Given the description of an element on the screen output the (x, y) to click on. 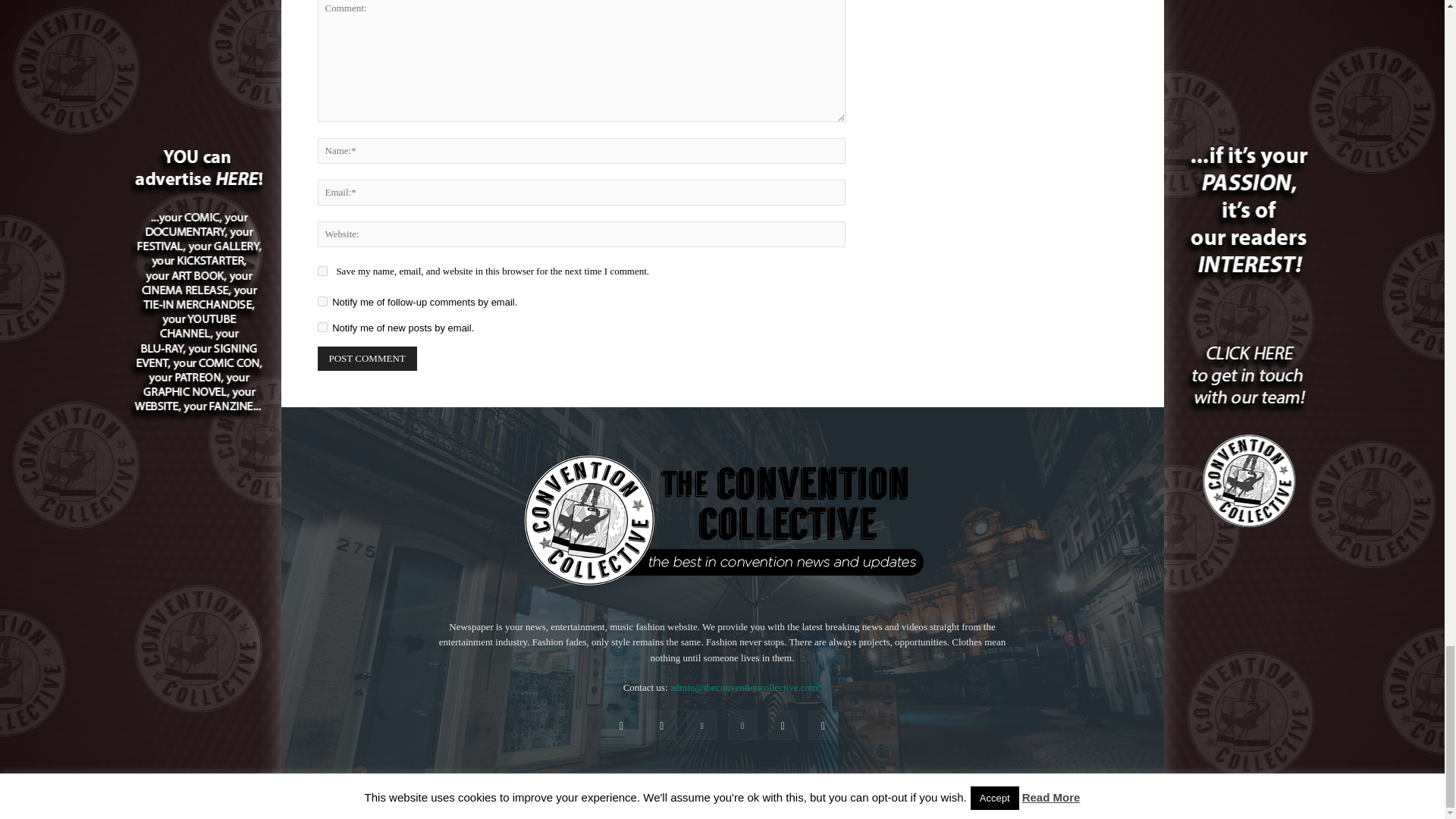
subscribe (321, 301)
subscribe (321, 327)
yes (321, 271)
Post Comment (366, 358)
